Given the description of an element on the screen output the (x, y) to click on. 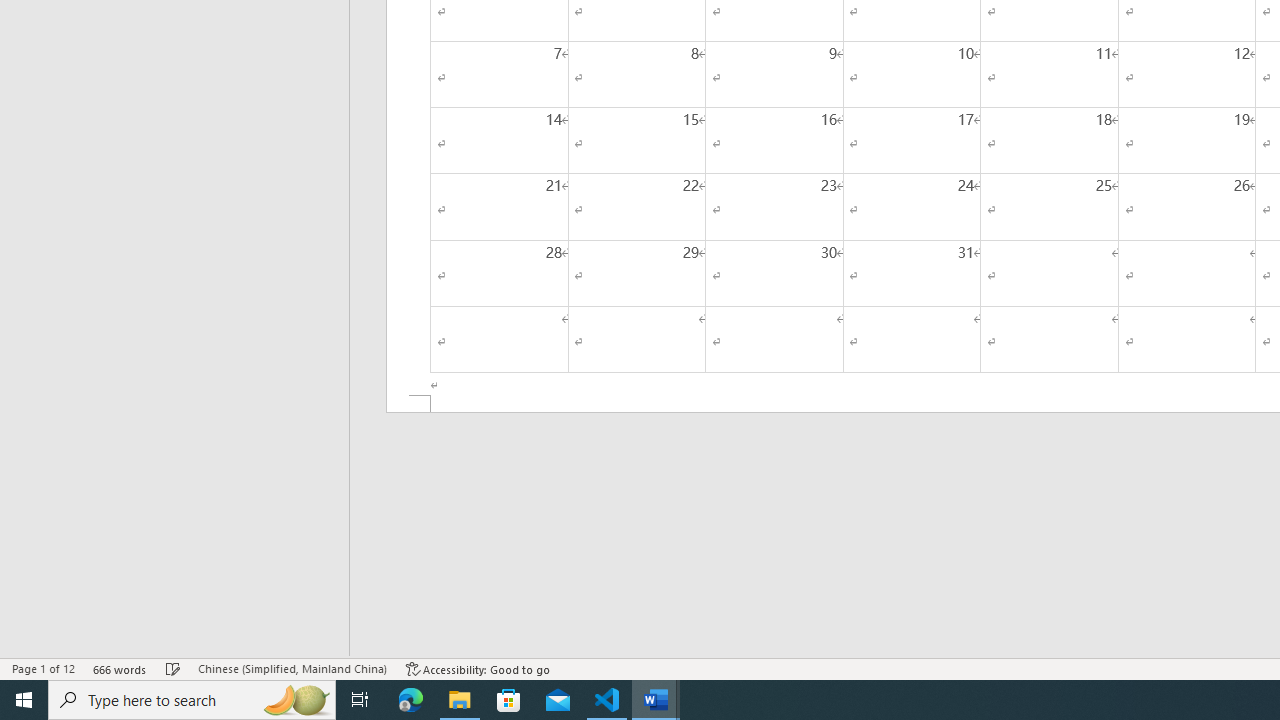
Page Number Page 1 of 12 (43, 668)
Language Chinese (Simplified, Mainland China) (292, 668)
Type here to search (191, 699)
File Explorer - 1 running window (460, 699)
Spelling and Grammar Check Checking (173, 668)
Task View (359, 699)
Microsoft Store (509, 699)
Word Count 666 words (119, 668)
Word - 2 running windows (656, 699)
Accessibility Checker Accessibility: Good to go (478, 668)
Start (24, 699)
Visual Studio Code - 1 running window (607, 699)
Search highlights icon opens search home window (295, 699)
